Given the description of an element on the screen output the (x, y) to click on. 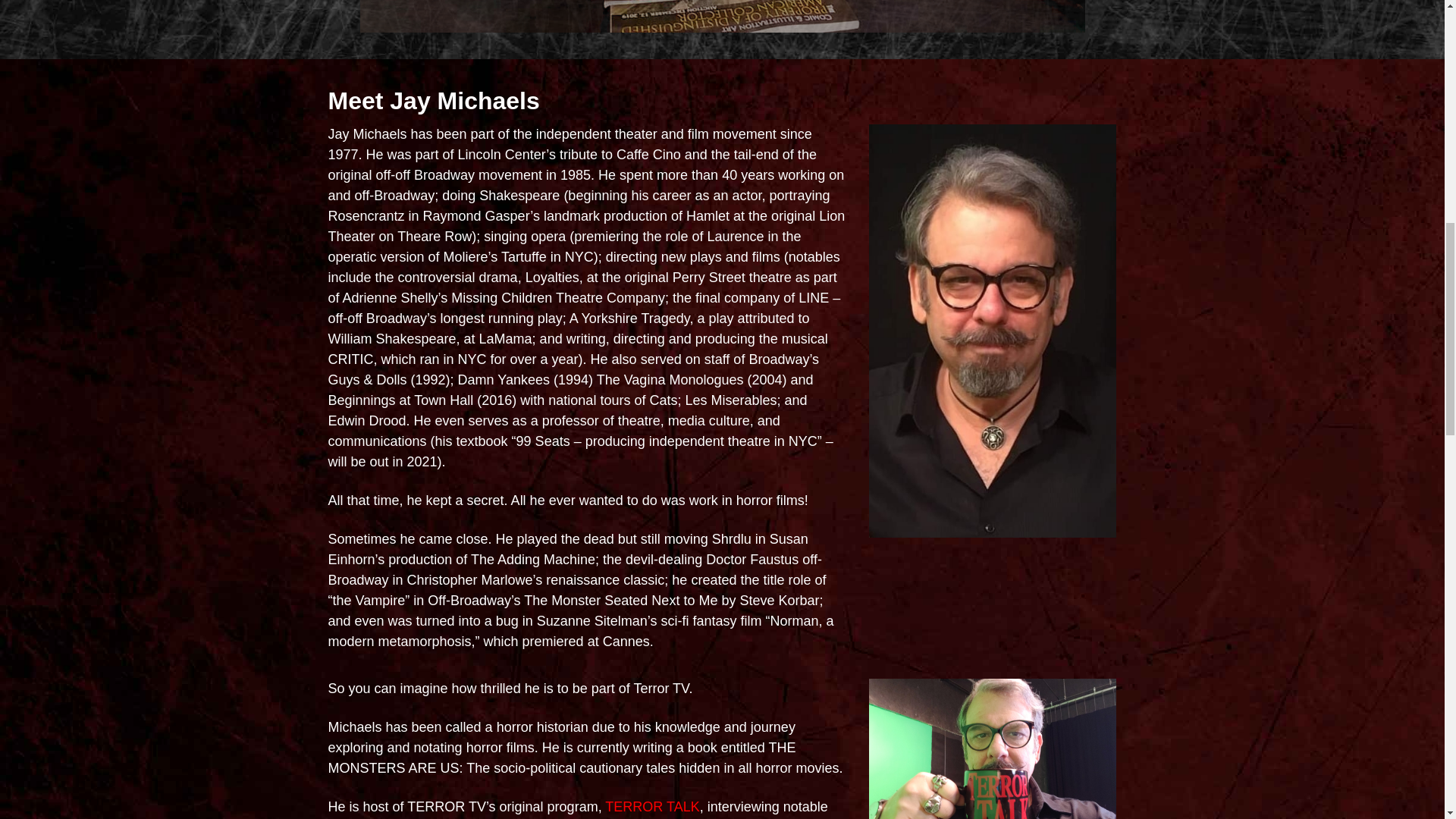
JayMichaels-Photo-transp (721, 16)
TT mug (992, 748)
TERROR TALK (651, 806)
